Given the description of an element on the screen output the (x, y) to click on. 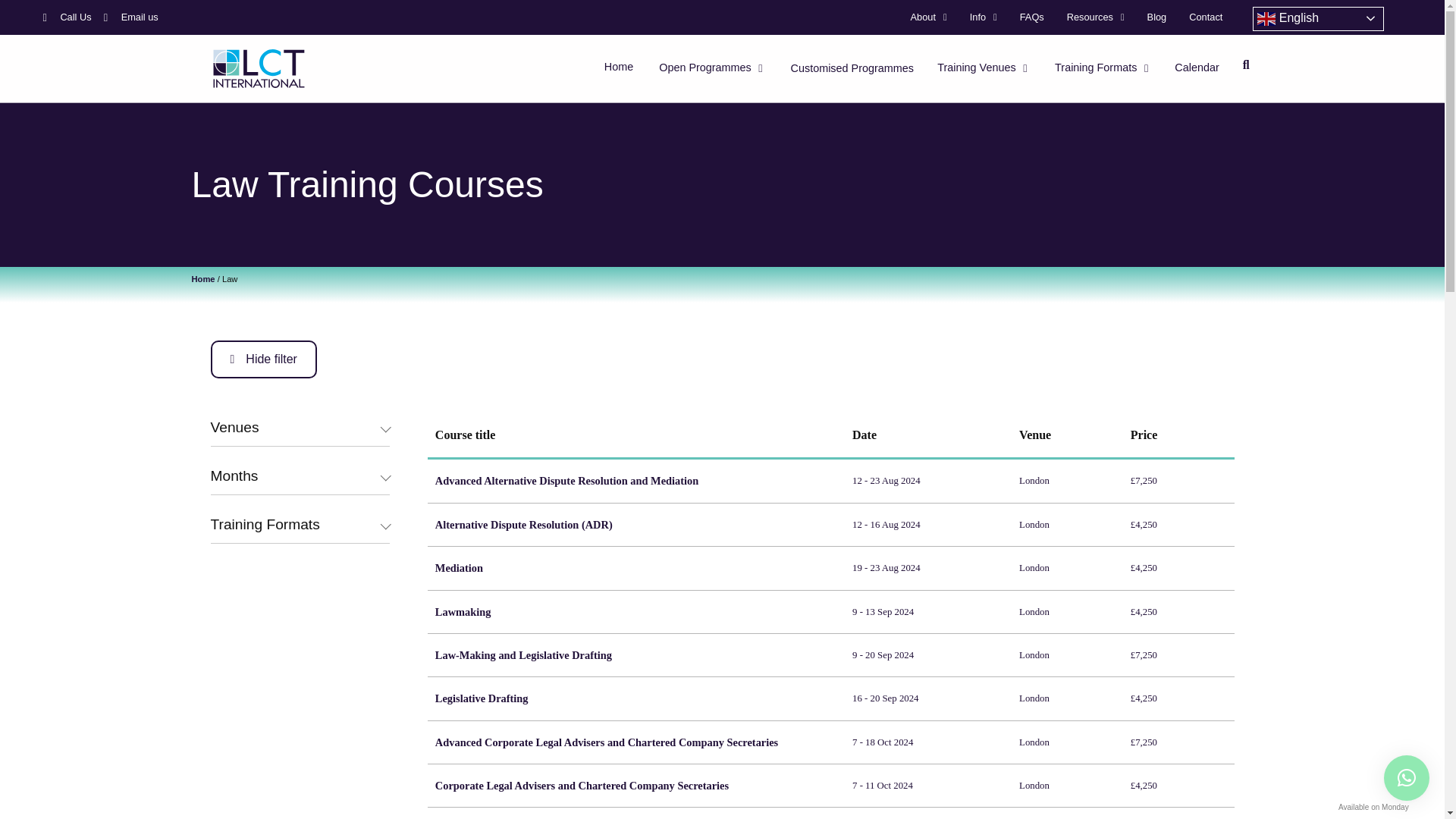
Contact (1205, 17)
About (928, 17)
FAQs (1032, 17)
Blog (1156, 17)
Info (983, 17)
Email us (130, 17)
Resources (1095, 17)
Call Us (66, 17)
